Given the description of an element on the screen output the (x, y) to click on. 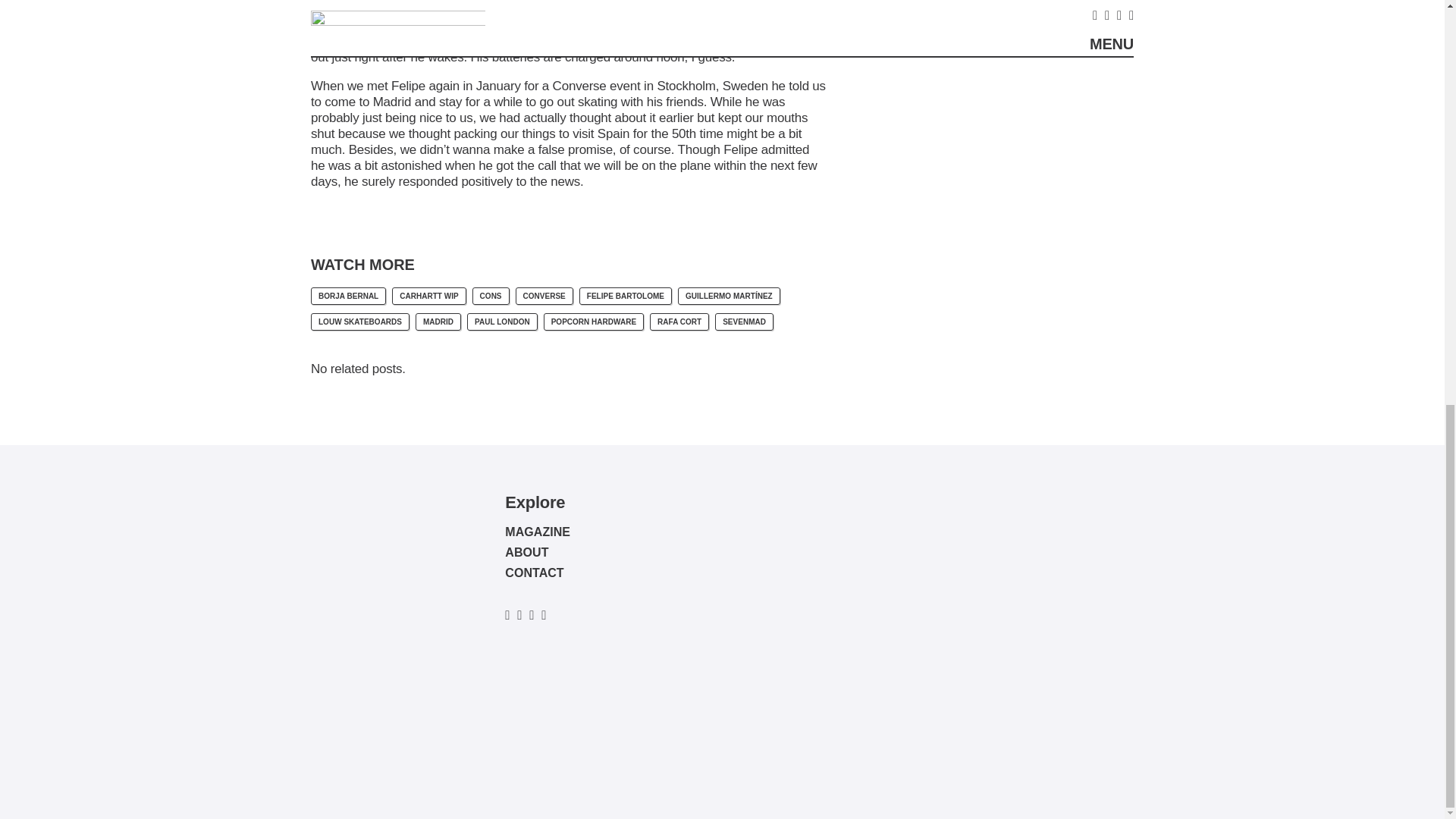
FELIPE BARTOLOME (625, 295)
CARHARTT WIP (428, 295)
BORJA BERNAL (348, 295)
Converse (580, 85)
CONS (490, 295)
CONVERSE (544, 295)
